Given the description of an element on the screen output the (x, y) to click on. 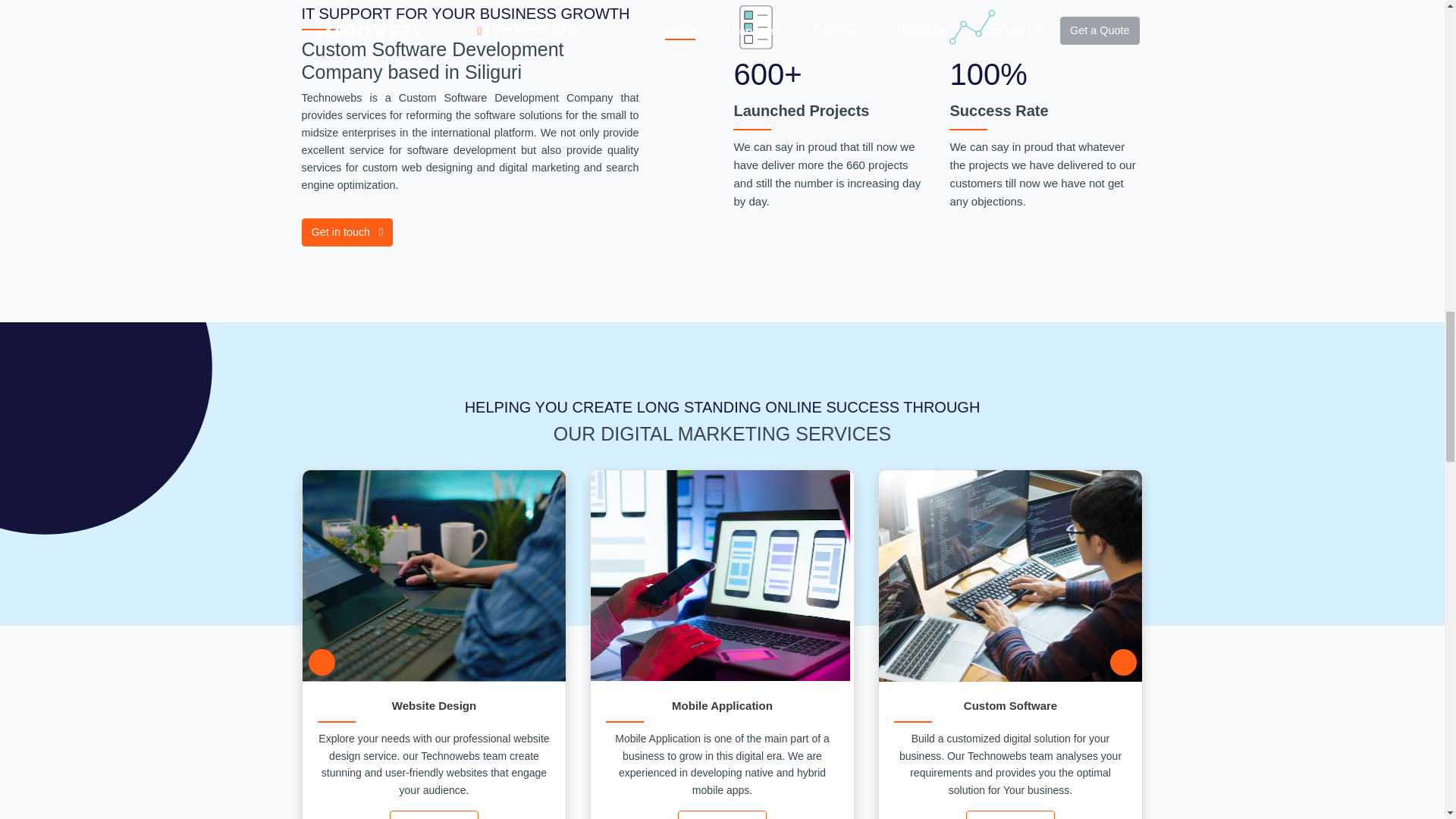
Mobile Application (722, 705)
Get in touch (347, 232)
Custom Software (1010, 705)
Website Design (433, 705)
